Given the description of an element on the screen output the (x, y) to click on. 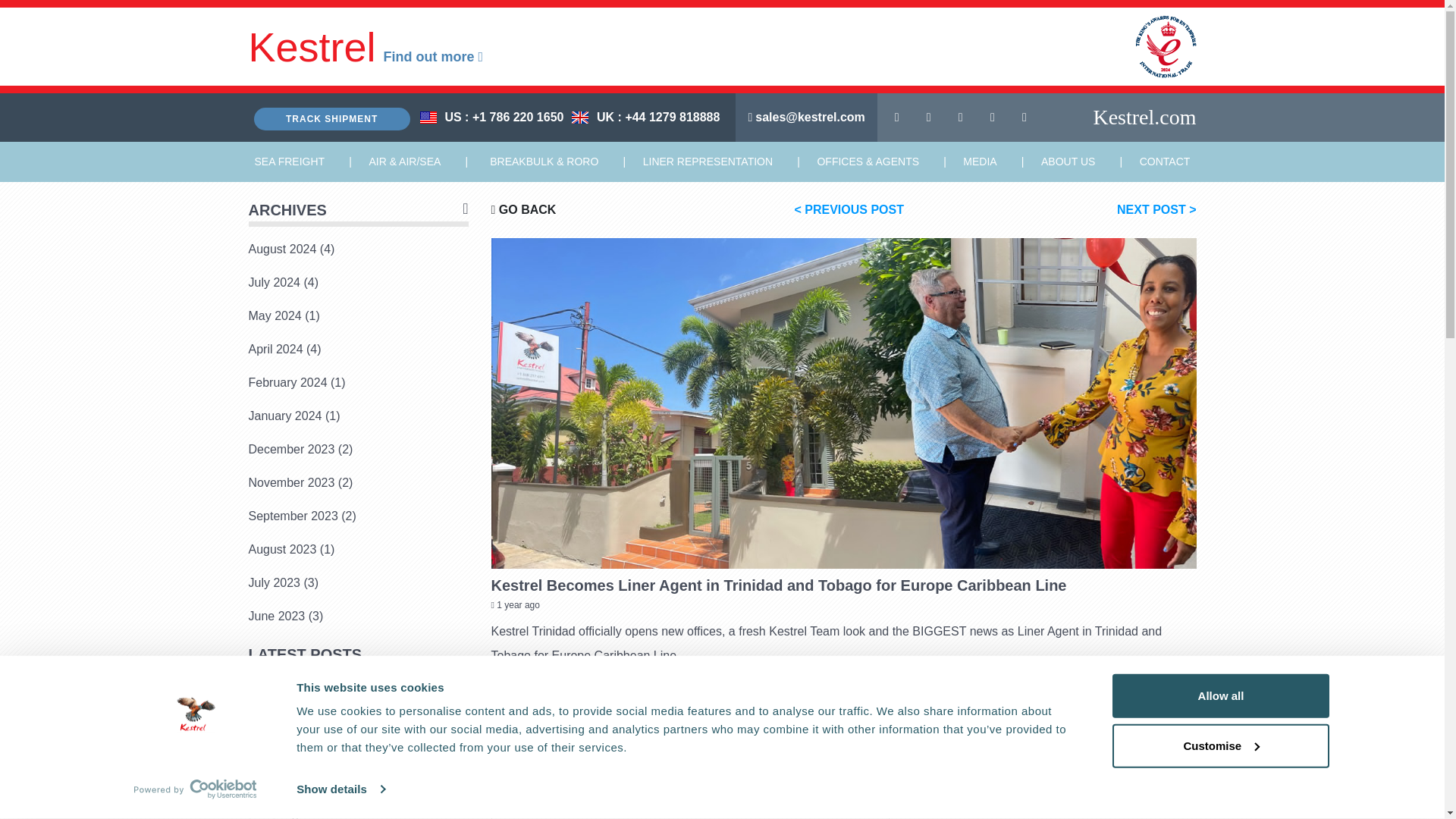
Customise (1219, 745)
Show details (340, 789)
TRACK SHIPMENT (331, 118)
Find out more (433, 56)
Allow all (1219, 696)
